Given the description of an element on the screen output the (x, y) to click on. 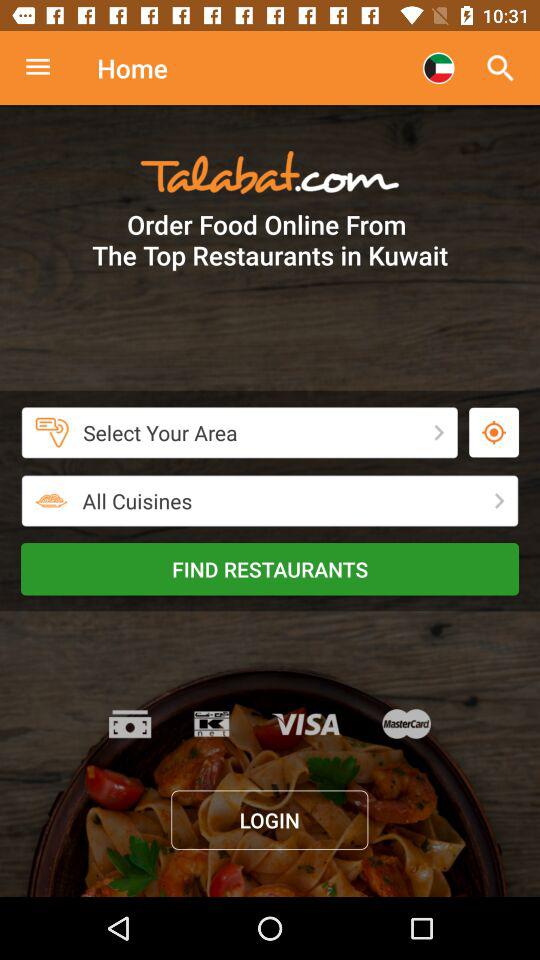
go customize (48, 67)
